Given the description of an element on the screen output the (x, y) to click on. 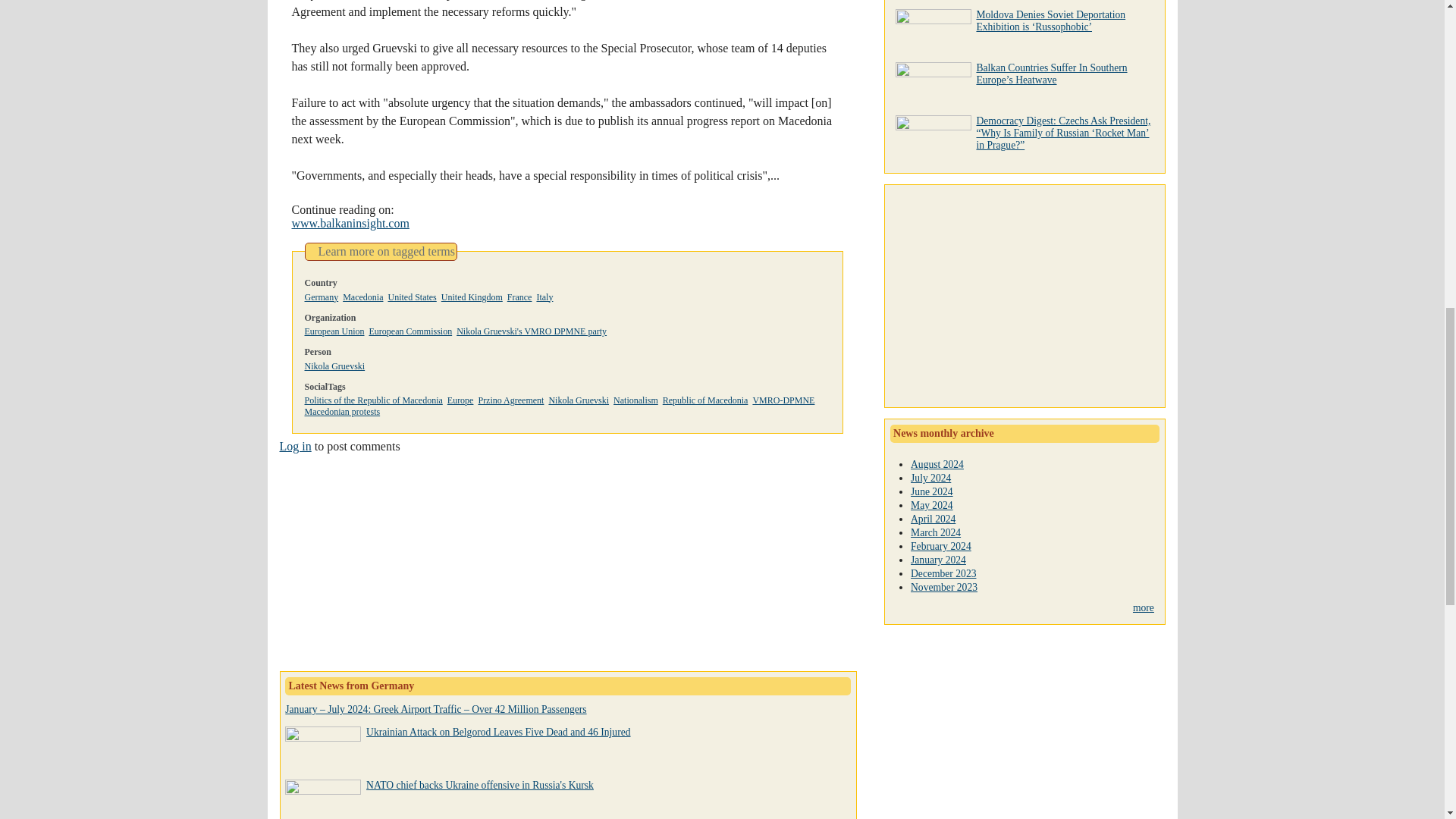
European Commission (409, 330)
United States (411, 296)
Nikola Gruevski's VMRO DPMNE party (532, 330)
Italy (544, 296)
Nationalism (635, 399)
United Kingdom (471, 296)
Macedonian protests (342, 411)
Nikola Gruevski (578, 399)
VMRO-DPMNE (782, 399)
Politics of the Republic of Macedonia (373, 399)
